Given the description of an element on the screen output the (x, y) to click on. 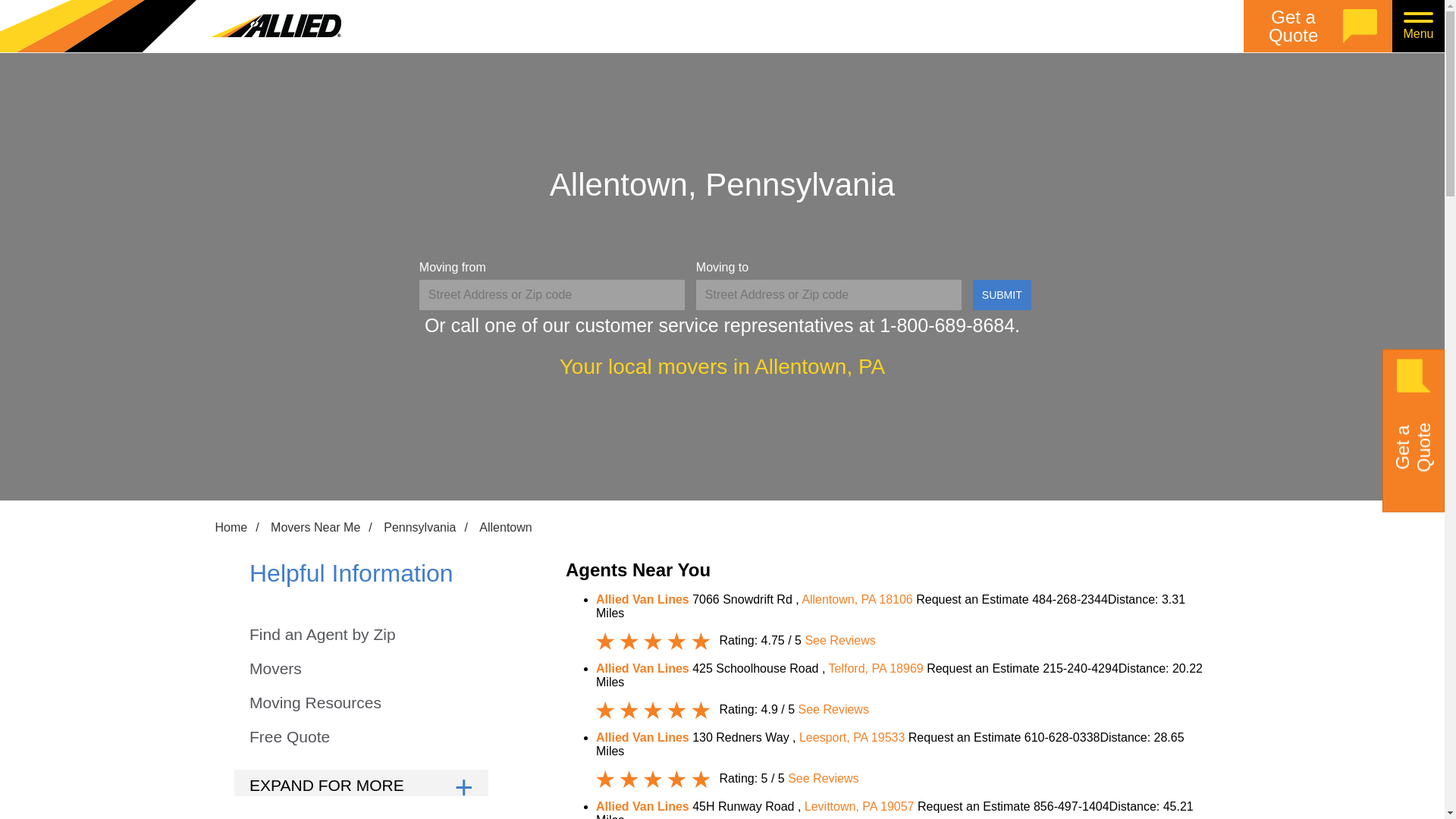
See Reviews (833, 708)
Free Quote (289, 737)
Find an Agent by Zip (322, 634)
Home (231, 527)
Leesport, PA 19533 (853, 737)
856-497-1404 (1071, 806)
View Allied Van Lines's reviews (840, 640)
Allentown, PA 18106 (858, 599)
215-240-4294 (1080, 667)
